Given the description of an element on the screen output the (x, y) to click on. 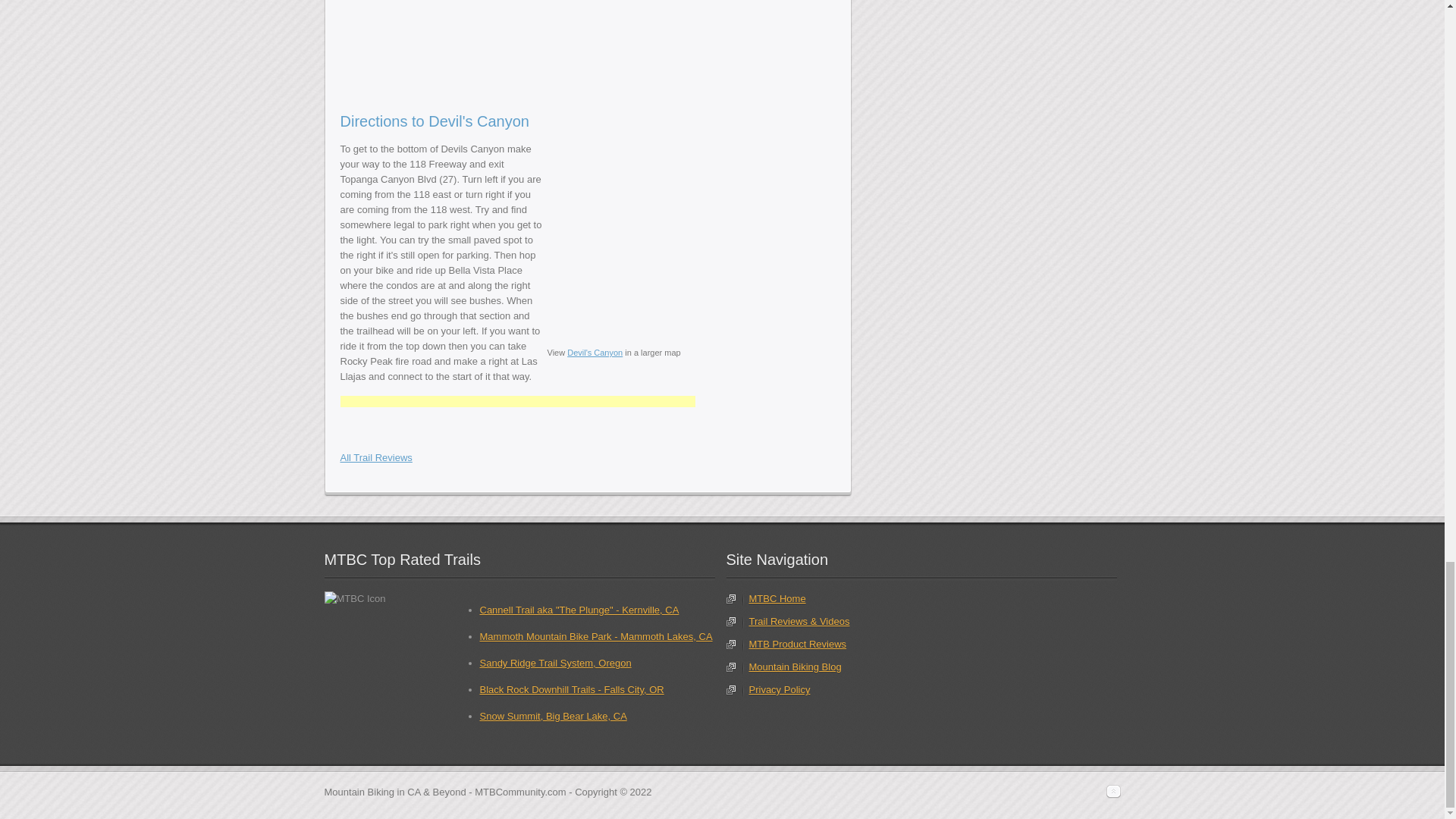
Devil's Canyon (624, 46)
Devil's Canyon (434, 46)
